Given the description of an element on the screen output the (x, y) to click on. 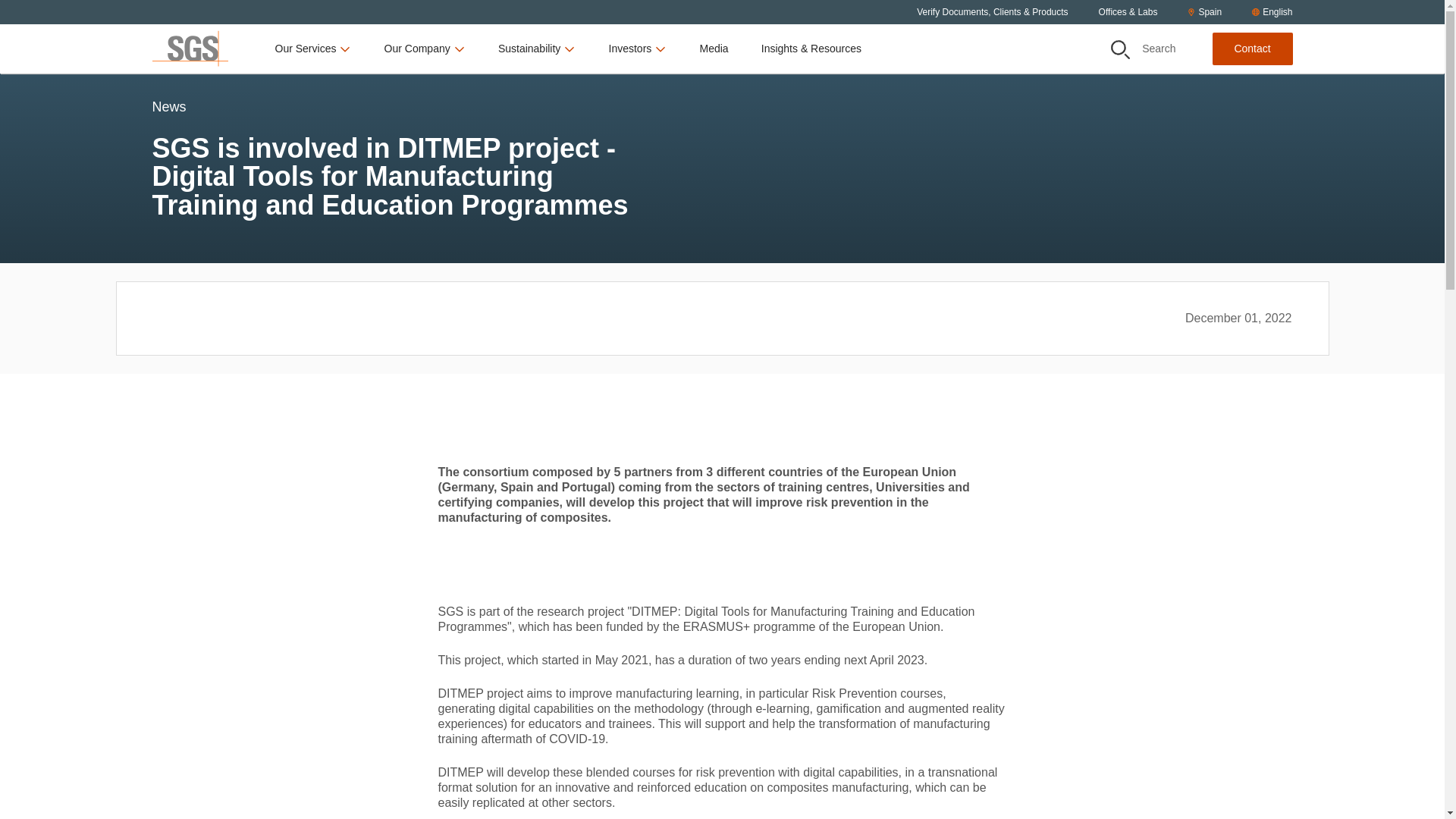
News (168, 125)
Investors (637, 48)
Spain (1204, 12)
Our Services (313, 48)
Our Company (424, 48)
Search (1119, 49)
Media (713, 48)
Search (1143, 48)
SGS (189, 48)
Sustainability (536, 48)
Contact (1251, 48)
